Given the description of an element on the screen output the (x, y) to click on. 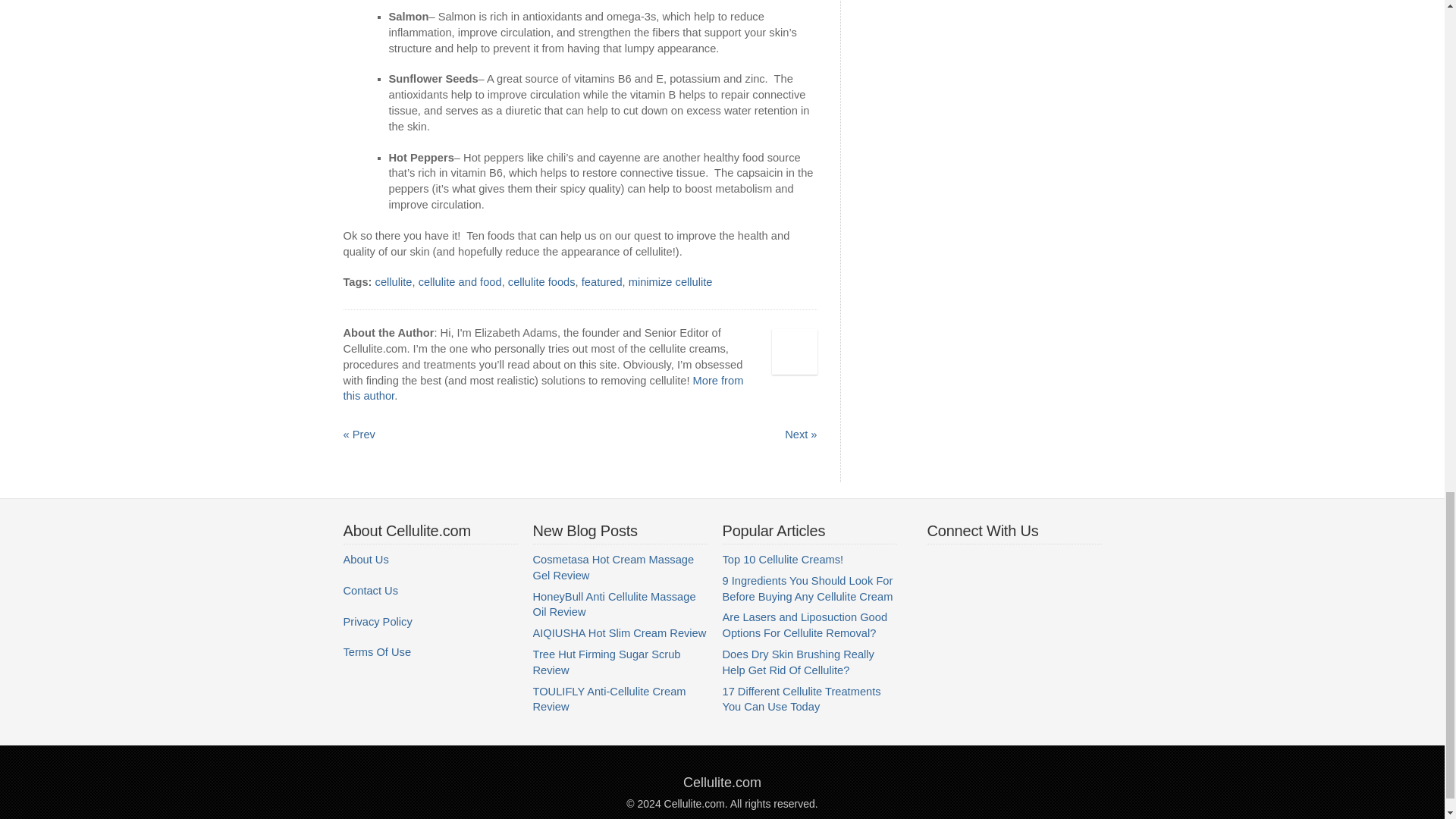
cellulite foods (541, 282)
Terms Of Use (376, 652)
Follow Us on Pinterest (1029, 564)
Subscribe To Our YouTube Channel (969, 564)
More from this author (542, 388)
About Us (365, 559)
Follow Us on Twitter (999, 564)
Privacy Policy (377, 621)
cellulite (393, 282)
cellulite and food (460, 282)
